Given the description of an element on the screen output the (x, y) to click on. 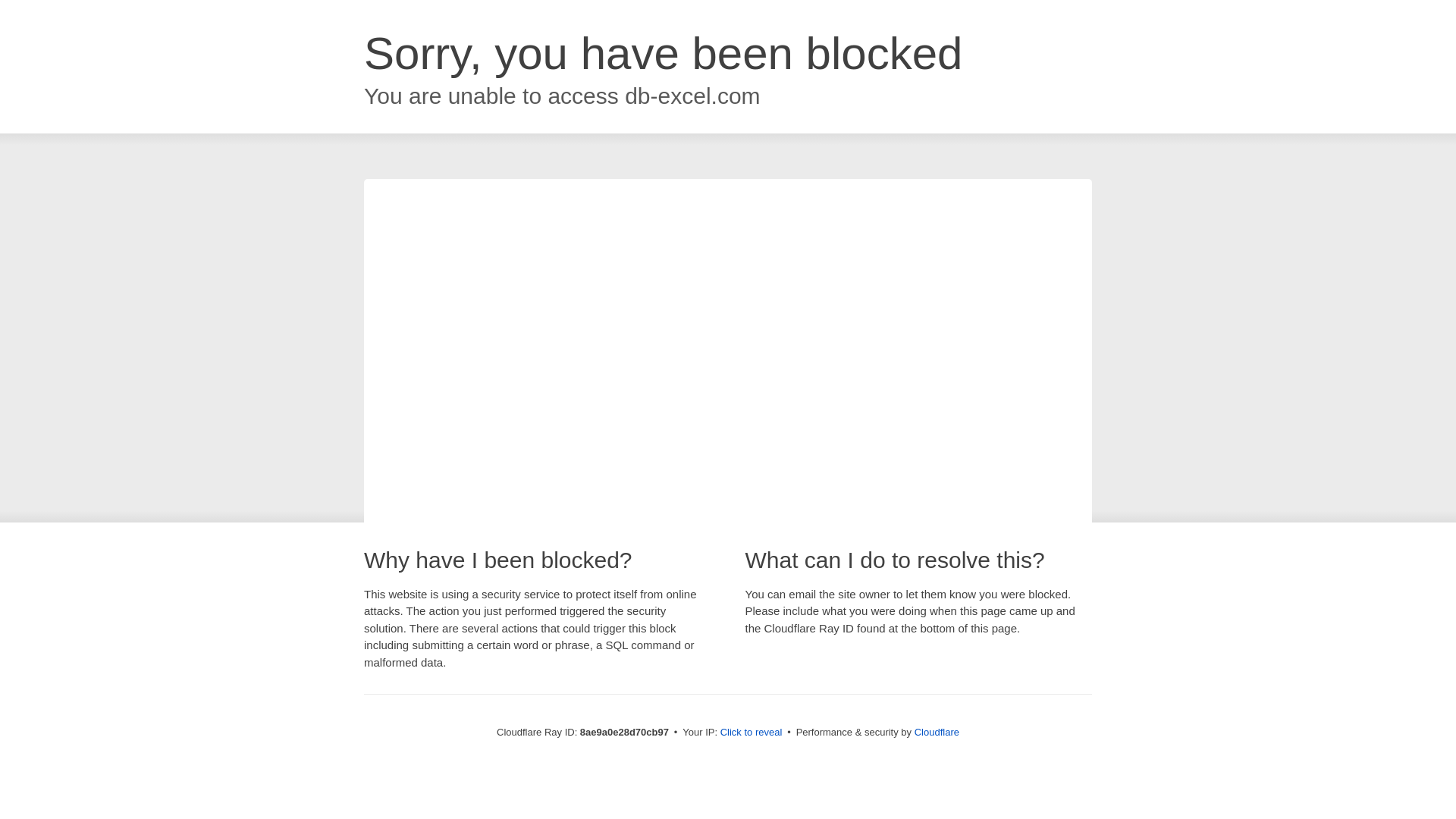
Click to reveal (751, 732)
Cloudflare (936, 731)
